Given the description of an element on the screen output the (x, y) to click on. 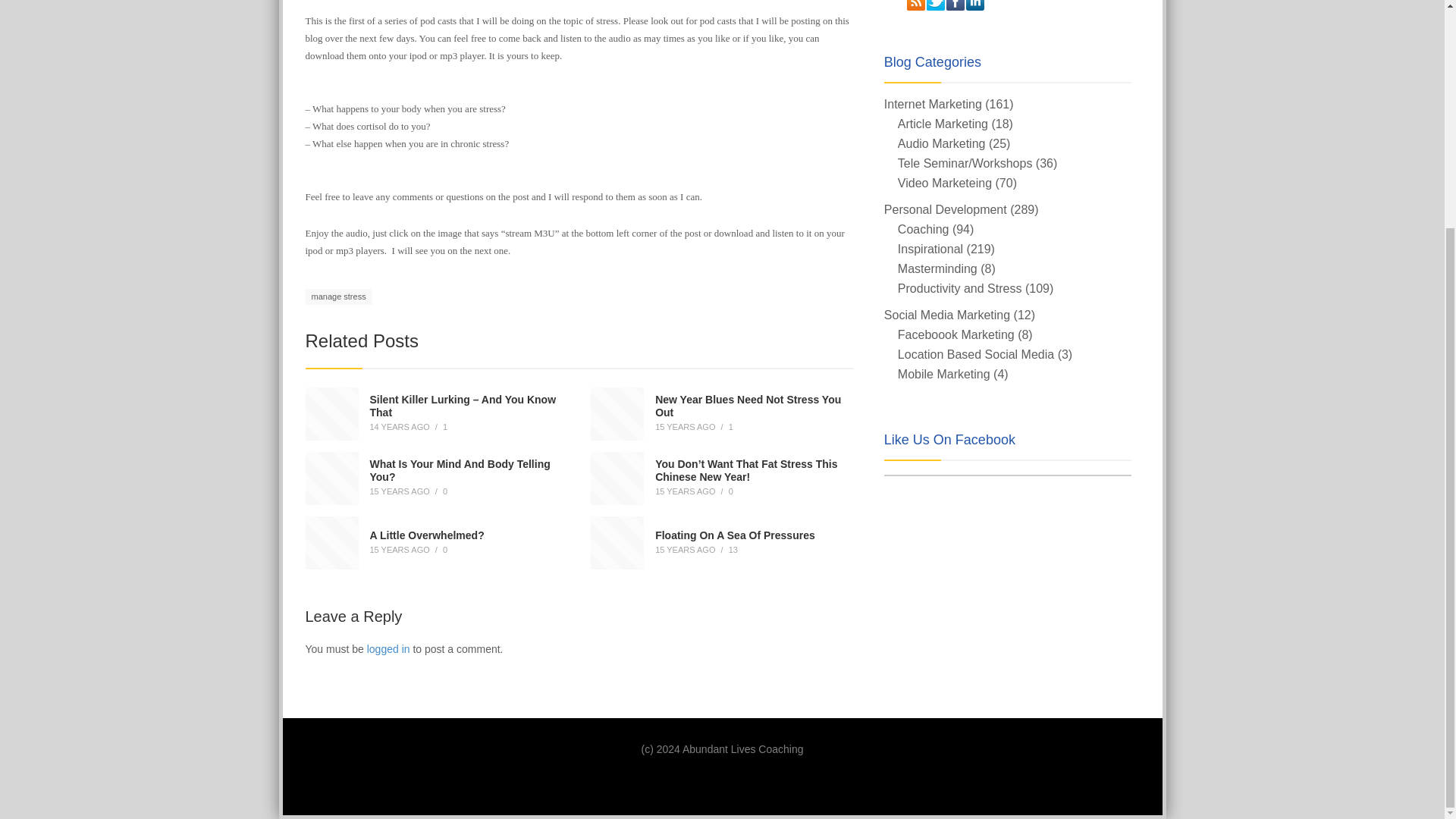
Article Marketing (943, 123)
Floating On A Sea Of Pressures (735, 535)
Audio Marketing (941, 143)
General: RSS (915, 5)
What Is Your Mind And Body Telling You? (459, 470)
Floating On A Sea Of Pressures (735, 535)
What Is Your Mind And Body Telling You? (459, 470)
New Year Blues Need Not Stress You Out (748, 405)
A Little Overwhelmed? (426, 535)
Twitter (935, 5)
General: RSS (915, 5)
logged in (388, 648)
New Year Blues Need Not Stress You Out (748, 405)
LinkedIn (975, 5)
A Little Overwhelmed? (426, 535)
